Given the description of an element on the screen output the (x, y) to click on. 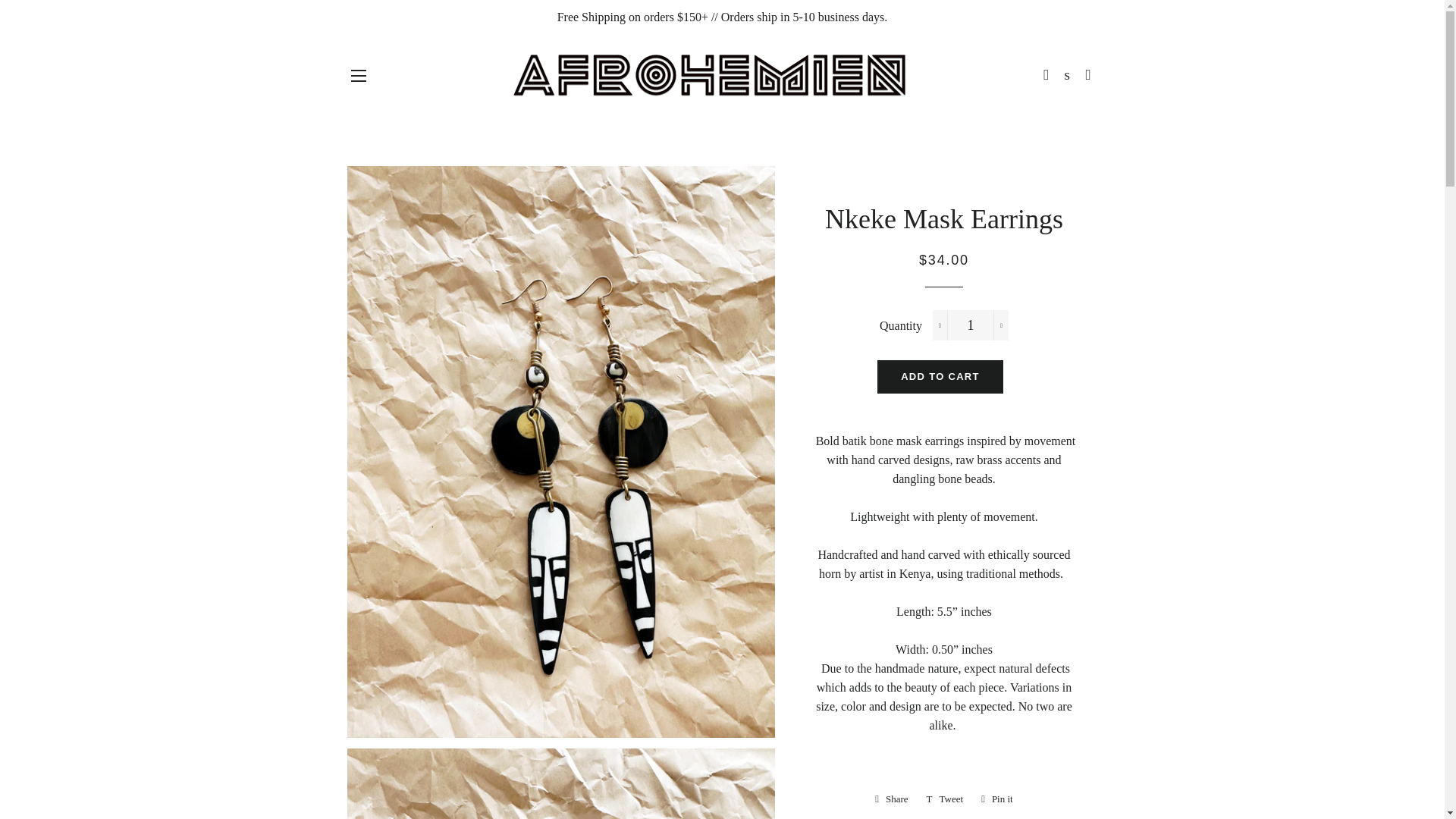
Share on Facebook (891, 798)
Tweet on Twitter (944, 798)
1 (971, 325)
Pin on Pinterest (997, 798)
